Given the description of an element on the screen output the (x, y) to click on. 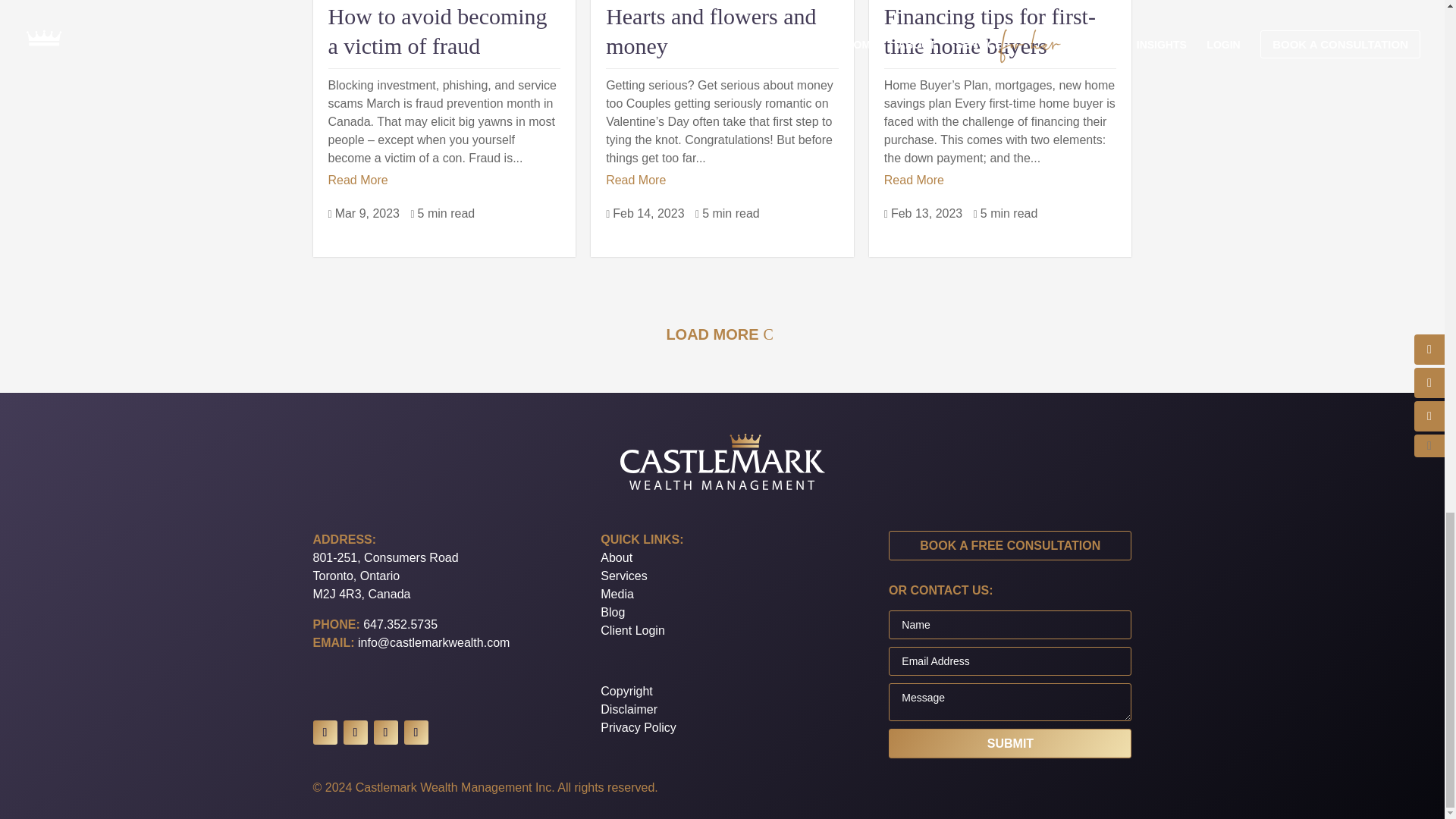
Follow on LinkedIn (324, 732)
LOAD MORE (722, 334)
Hearts and flowers and money (710, 31)
Read More (635, 180)
Follow on X (415, 732)
Financing tips for first-time home buyers (989, 31)
Follow on Instagram (384, 732)
Read More (357, 180)
Follow on Vimeo (354, 732)
How to avoid becoming a victim of fraud (437, 31)
